Given the description of an element on the screen output the (x, y) to click on. 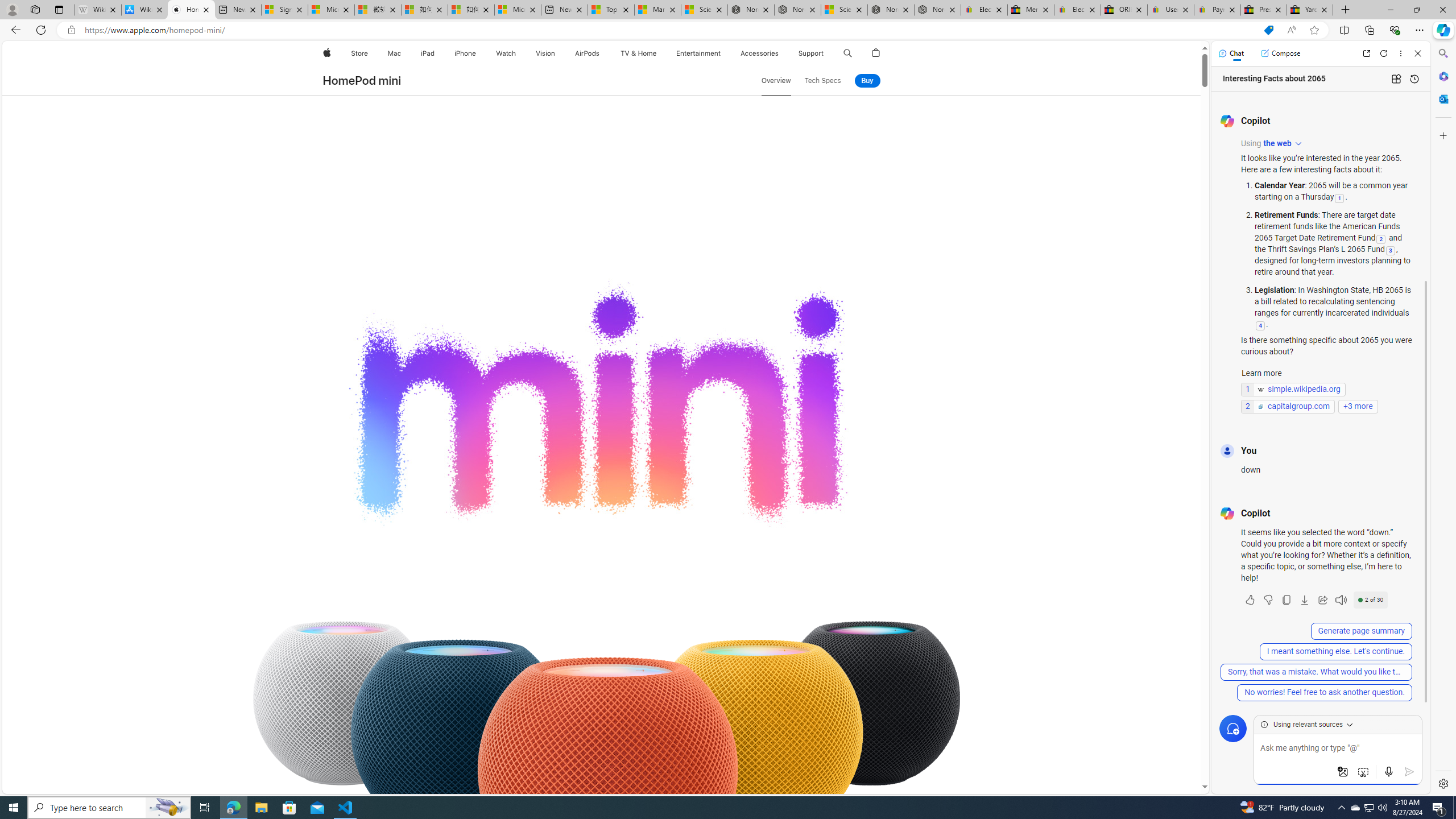
HomePod mini - Apple (191, 9)
Vision (545, 53)
iPhone menu (477, 53)
TV and Home (637, 53)
iPad (427, 53)
Accessories menu (780, 53)
